Given the description of an element on the screen output the (x, y) to click on. 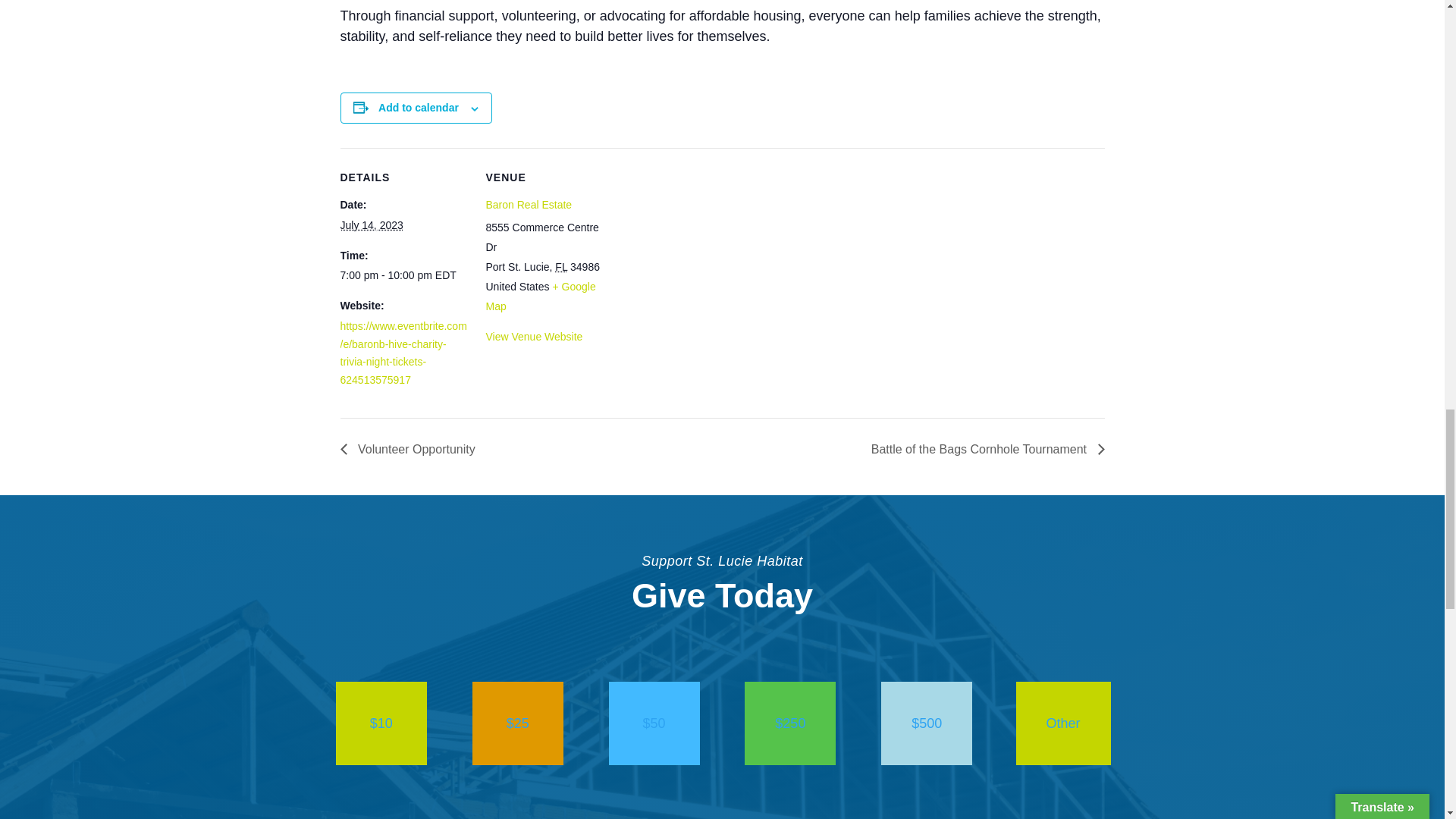
View Venue Website (533, 336)
Florida (560, 266)
Add to calendar (418, 107)
Click to view a Google Map (539, 296)
Baron Real Estate (528, 204)
2023-07-14 (403, 275)
2023-07-14 (371, 224)
